Given the description of an element on the screen output the (x, y) to click on. 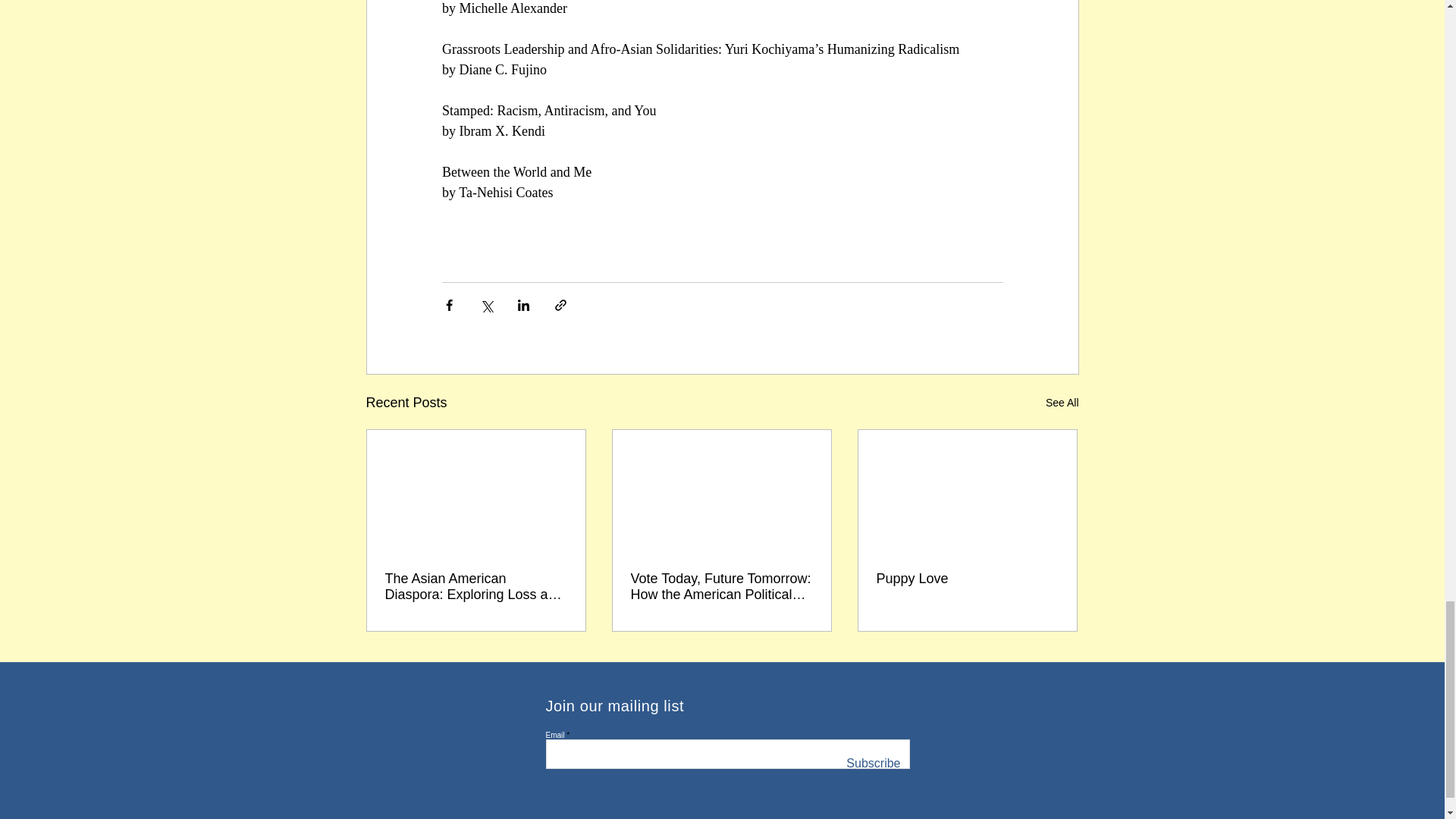
Puppy Love (967, 578)
Subscribe (872, 763)
See All (1061, 403)
The Asian American Diaspora: Exploring Loss and Belonging (476, 586)
